Given the description of an element on the screen output the (x, y) to click on. 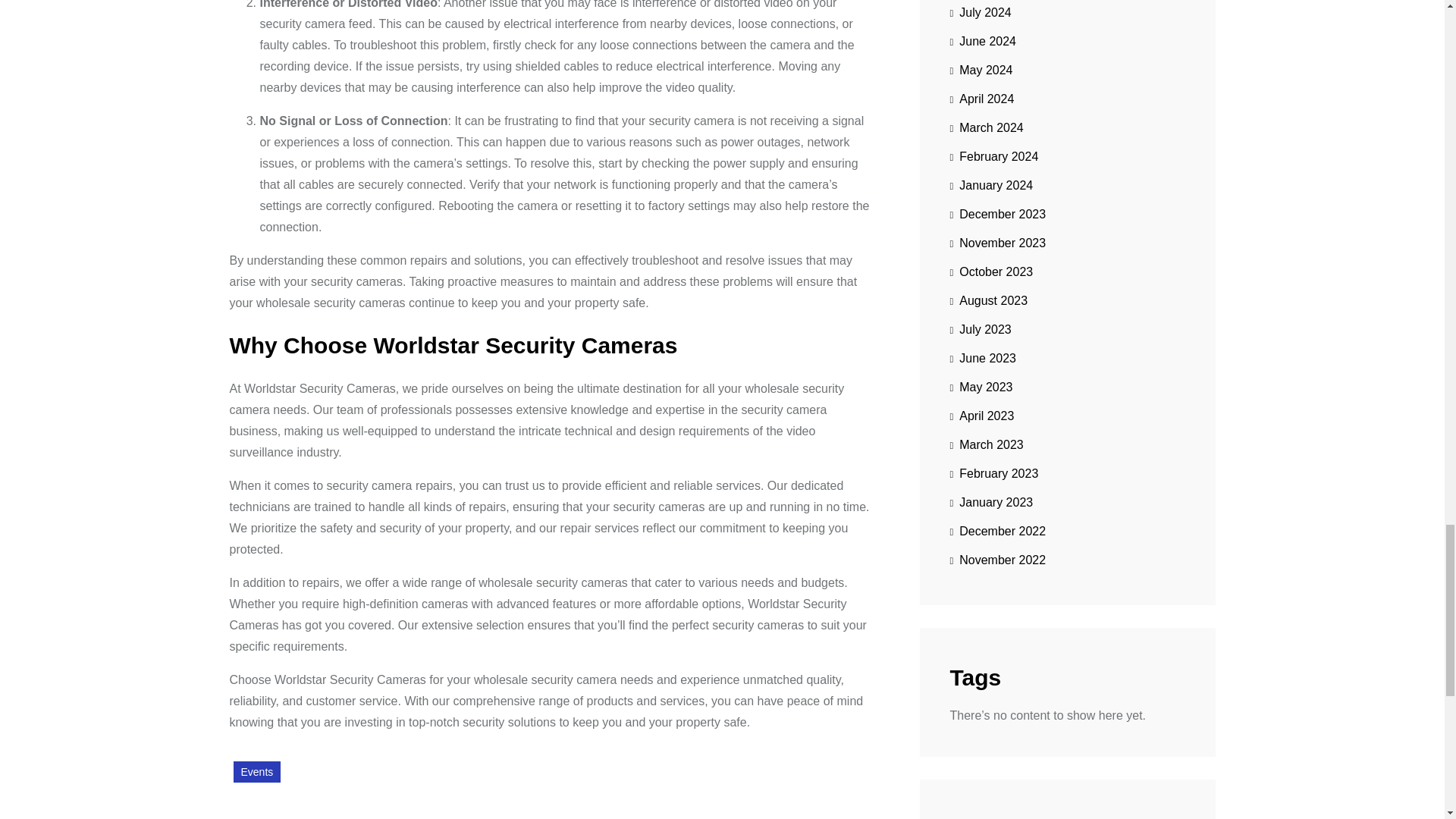
May 2023 (980, 387)
January 2023 (990, 502)
January 2024 (990, 185)
October 2023 (990, 271)
December 2023 (997, 214)
November 2022 (997, 560)
July 2023 (979, 329)
April 2024 (981, 99)
April 2023 (981, 416)
February 2024 (993, 156)
June 2023 (981, 358)
November 2023 (997, 243)
February 2023 (993, 473)
August 2023 (988, 300)
March 2024 (986, 127)
